Given the description of an element on the screen output the (x, y) to click on. 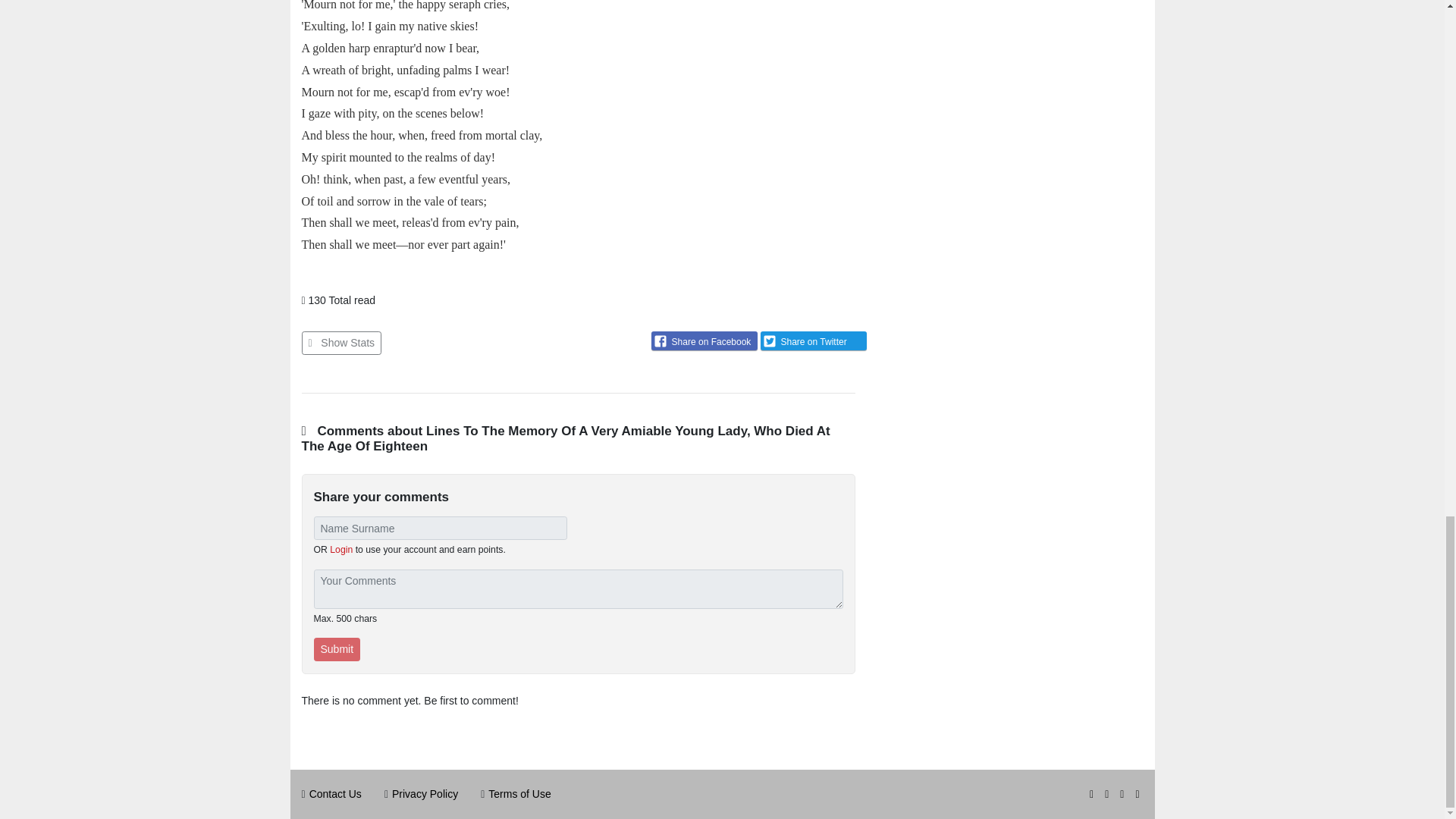
Submit (337, 649)
Contact Us (334, 793)
Share on Twitter (813, 340)
Share on Facebook (703, 340)
Privacy Policy (424, 793)
Privacy Policy (424, 793)
Terms of Use (518, 793)
Contact Us (334, 793)
  Show Stats (341, 342)
Login (341, 549)
Terms of Use (518, 793)
